Given the description of an element on the screen output the (x, y) to click on. 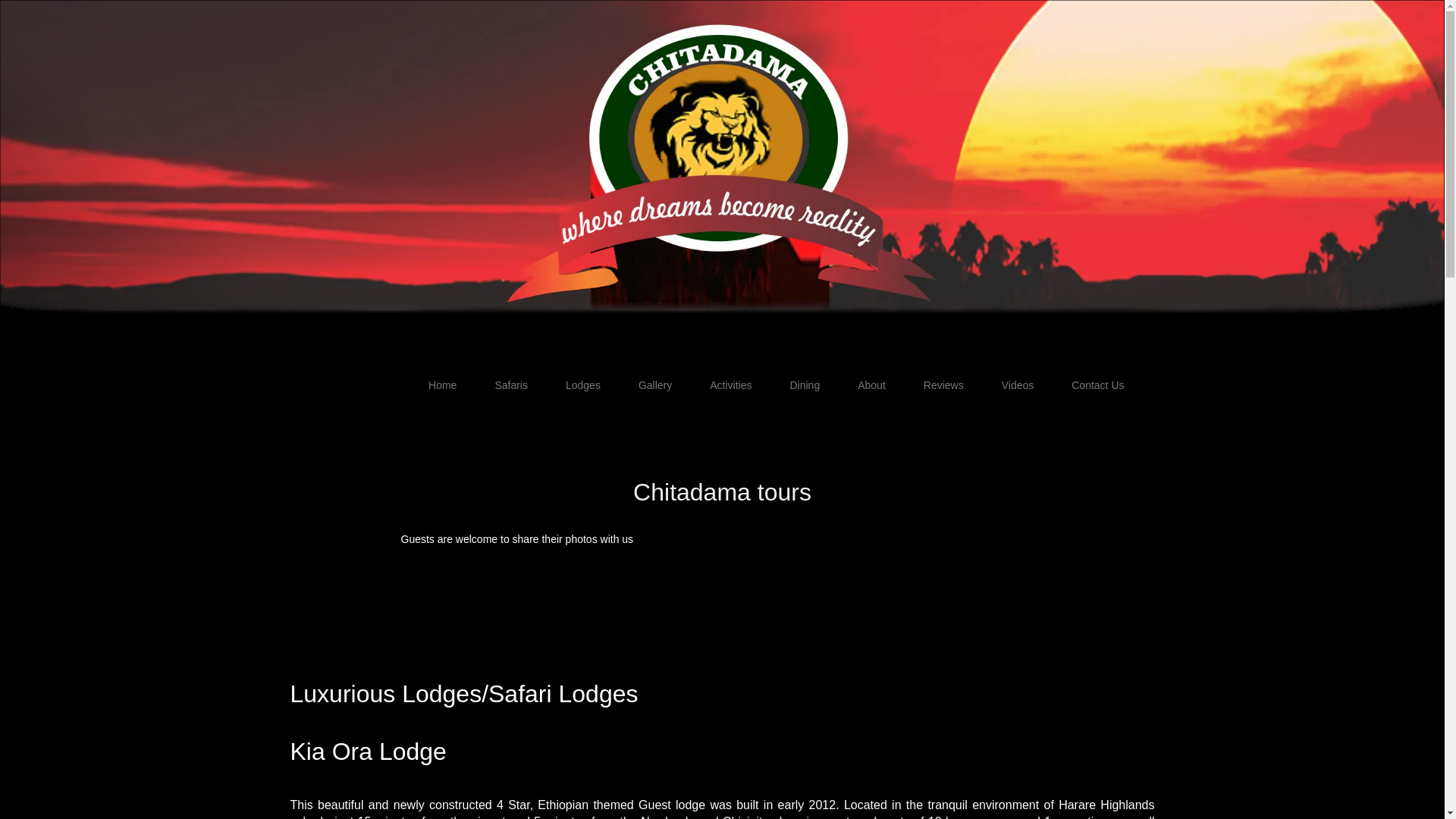
Contact Us (1097, 384)
